Given the description of an element on the screen output the (x, y) to click on. 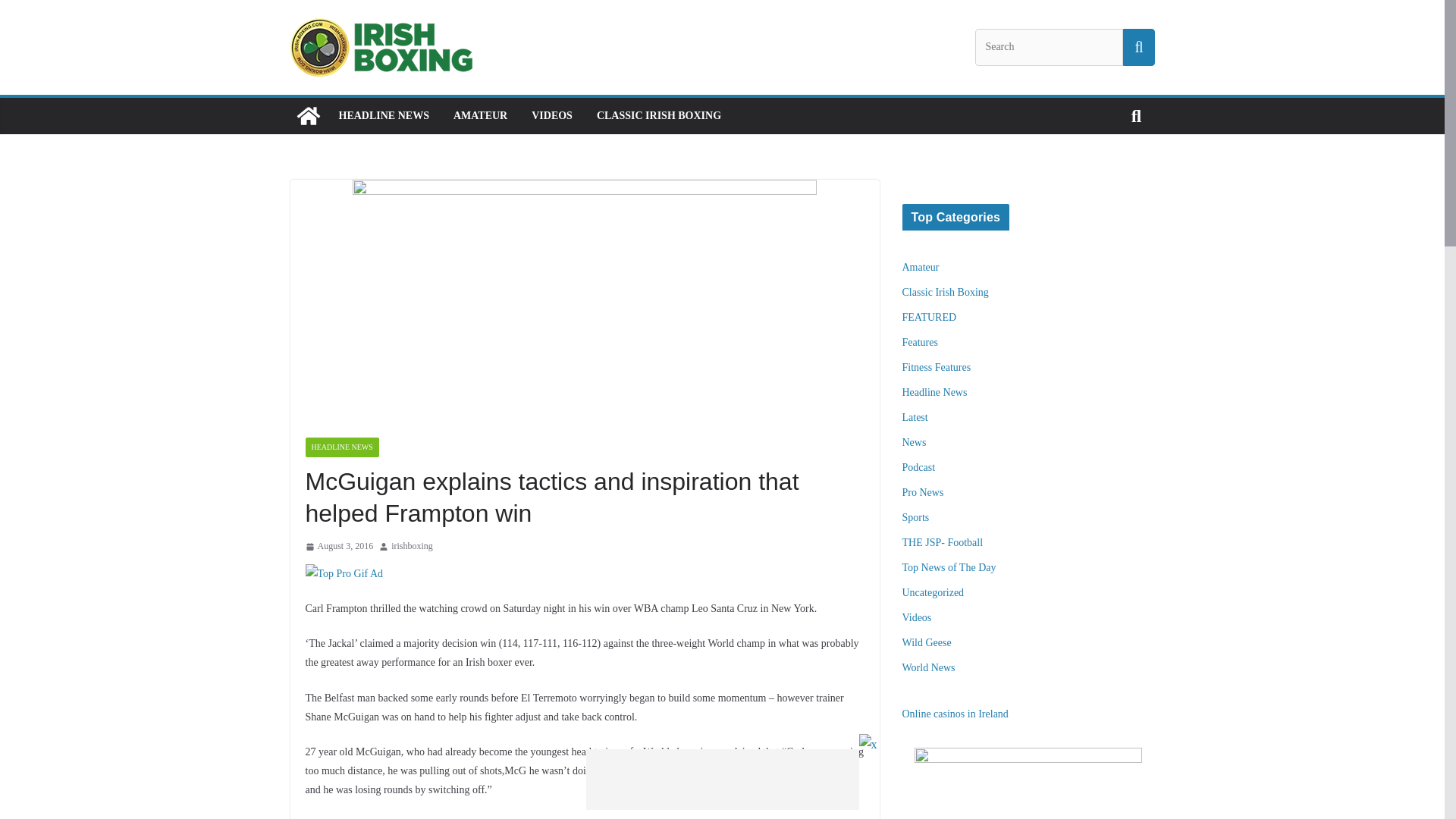
Latest (915, 417)
Features (919, 342)
5:09 pm (338, 546)
Amateur (920, 266)
Top News of The Day (948, 567)
Pro News (922, 491)
HEADLINE NEWS (382, 115)
THE JSP- Football (943, 542)
Sports (916, 517)
Irish Boxing (307, 115)
